Given the description of an element on the screen output the (x, y) to click on. 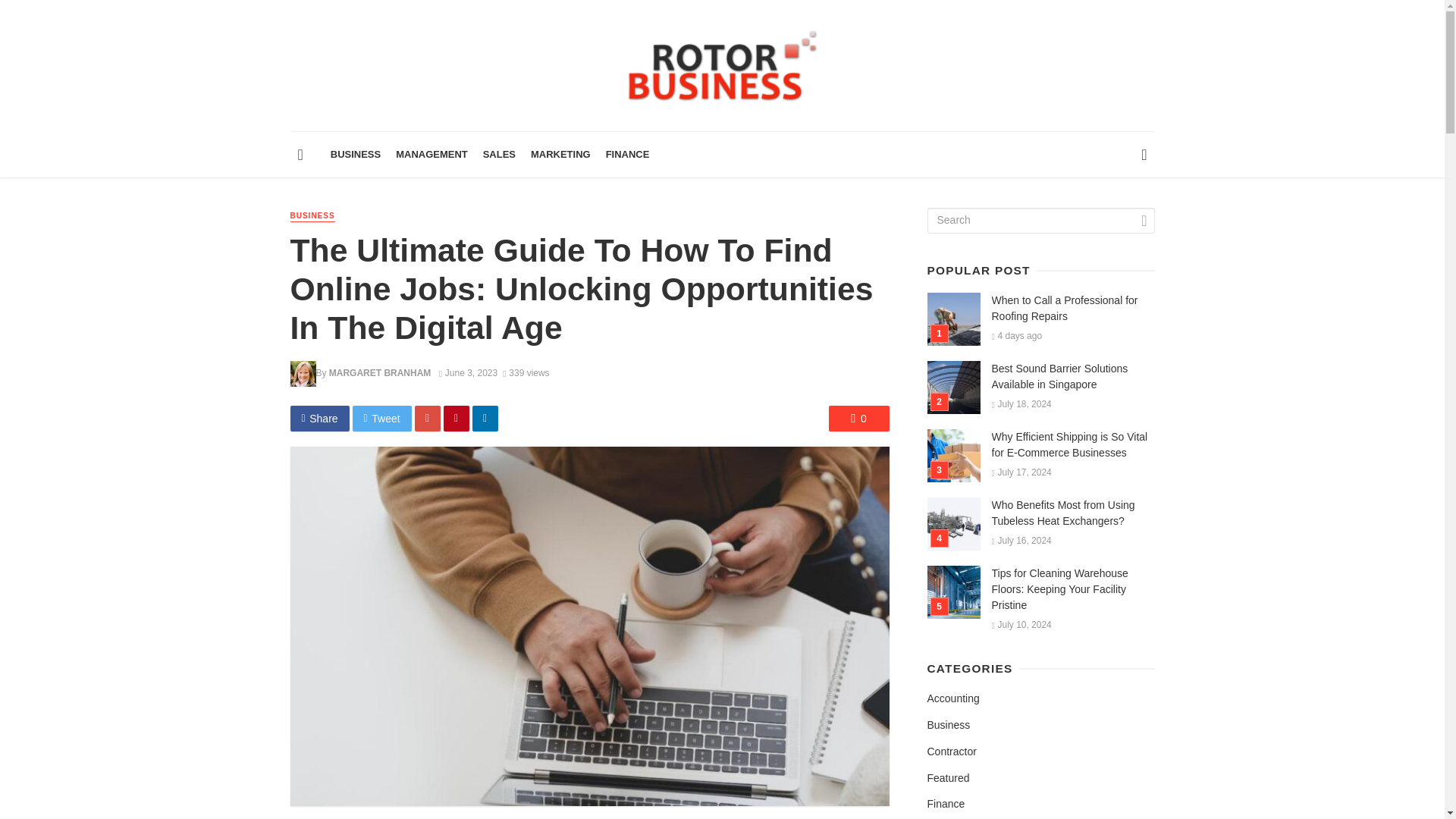
BUSINESS (311, 215)
MARKETING (560, 154)
June 3, 2023 at 11:12 am (468, 372)
FINANCE (628, 154)
MARGARET BRANHAM (379, 372)
Tweet (382, 418)
Share (319, 418)
MANAGEMENT (432, 154)
Posts by Margaret Branham (379, 372)
SALES (499, 154)
BUSINESS (355, 154)
0 (858, 418)
